Given the description of an element on the screen output the (x, y) to click on. 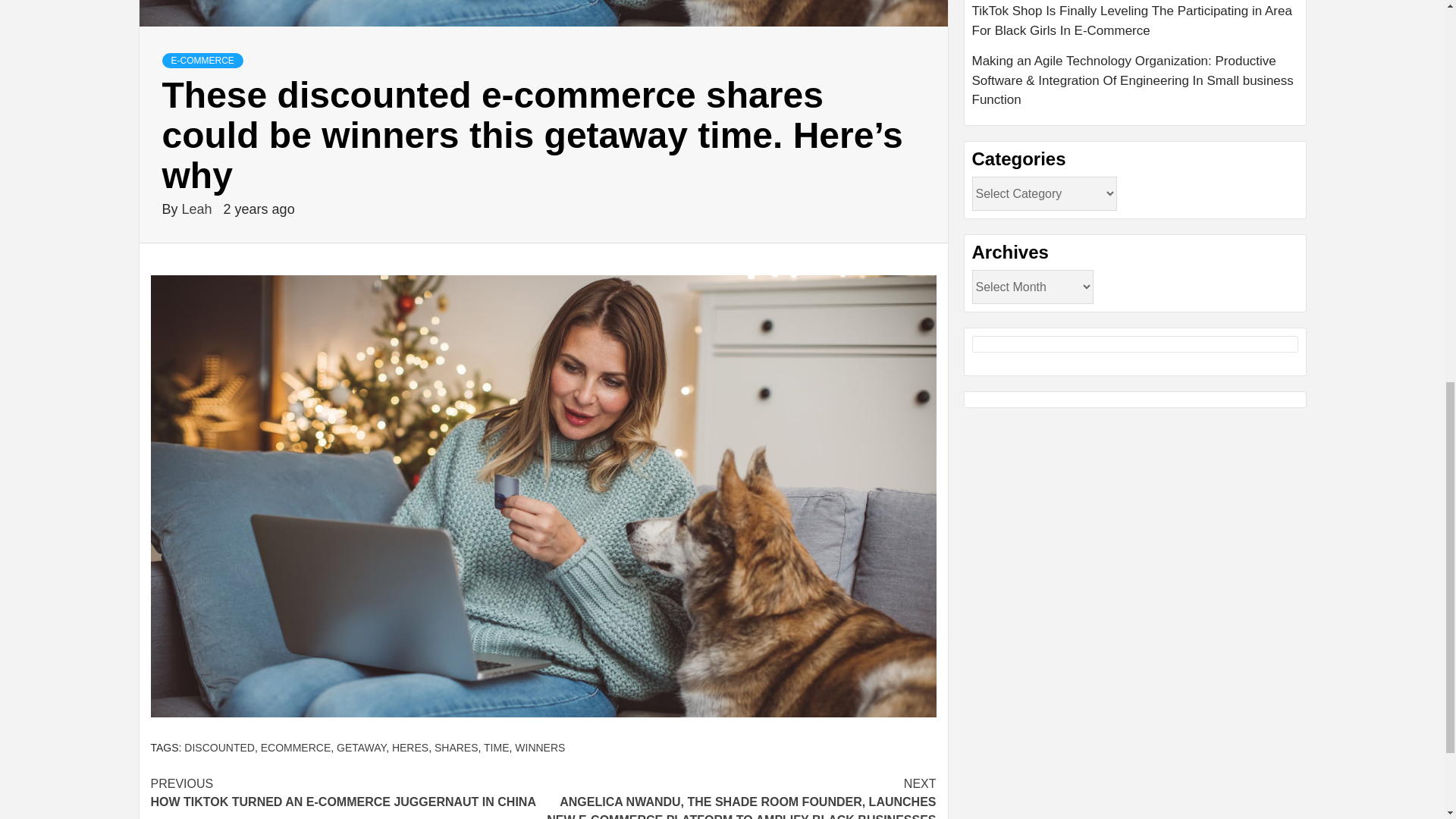
HERES (409, 747)
WINNERS (539, 747)
E-COMMERCE (346, 792)
SHARES (202, 60)
ECOMMERCE (456, 747)
TIME (295, 747)
Leah (495, 747)
DISCOUNTED (198, 209)
GETAWAY (219, 747)
